Given the description of an element on the screen output the (x, y) to click on. 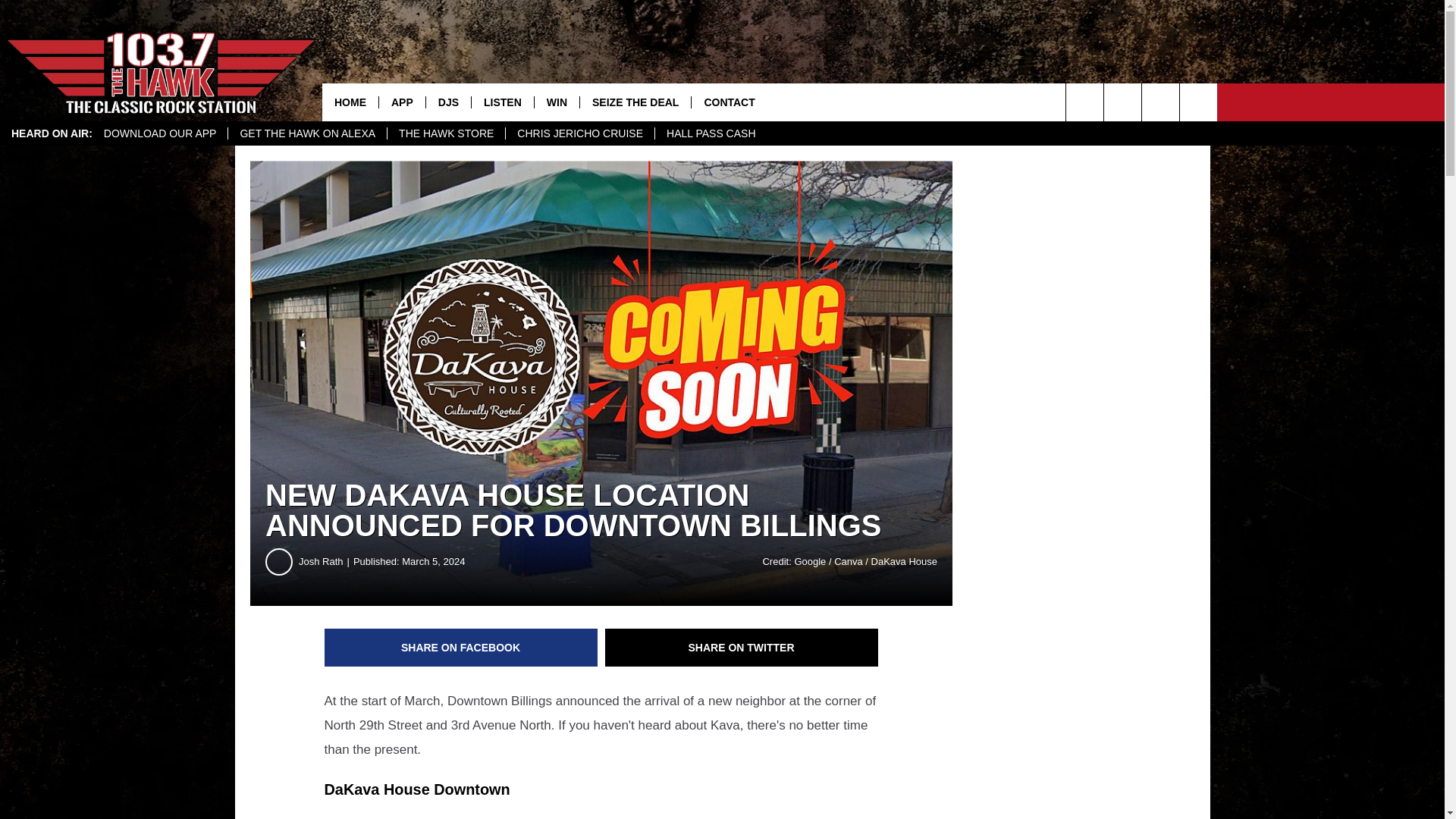
Share on Twitter (741, 647)
GET THE HAWK ON ALEXA (307, 133)
APP (401, 102)
LISTEN (502, 102)
Share on Facebook (460, 647)
CHRIS JERICHO CRUISE (579, 133)
DOWNLOAD OUR APP (160, 133)
SEIZE THE DEAL (634, 102)
WIN (556, 102)
DJS (447, 102)
